Given the description of an element on the screen output the (x, y) to click on. 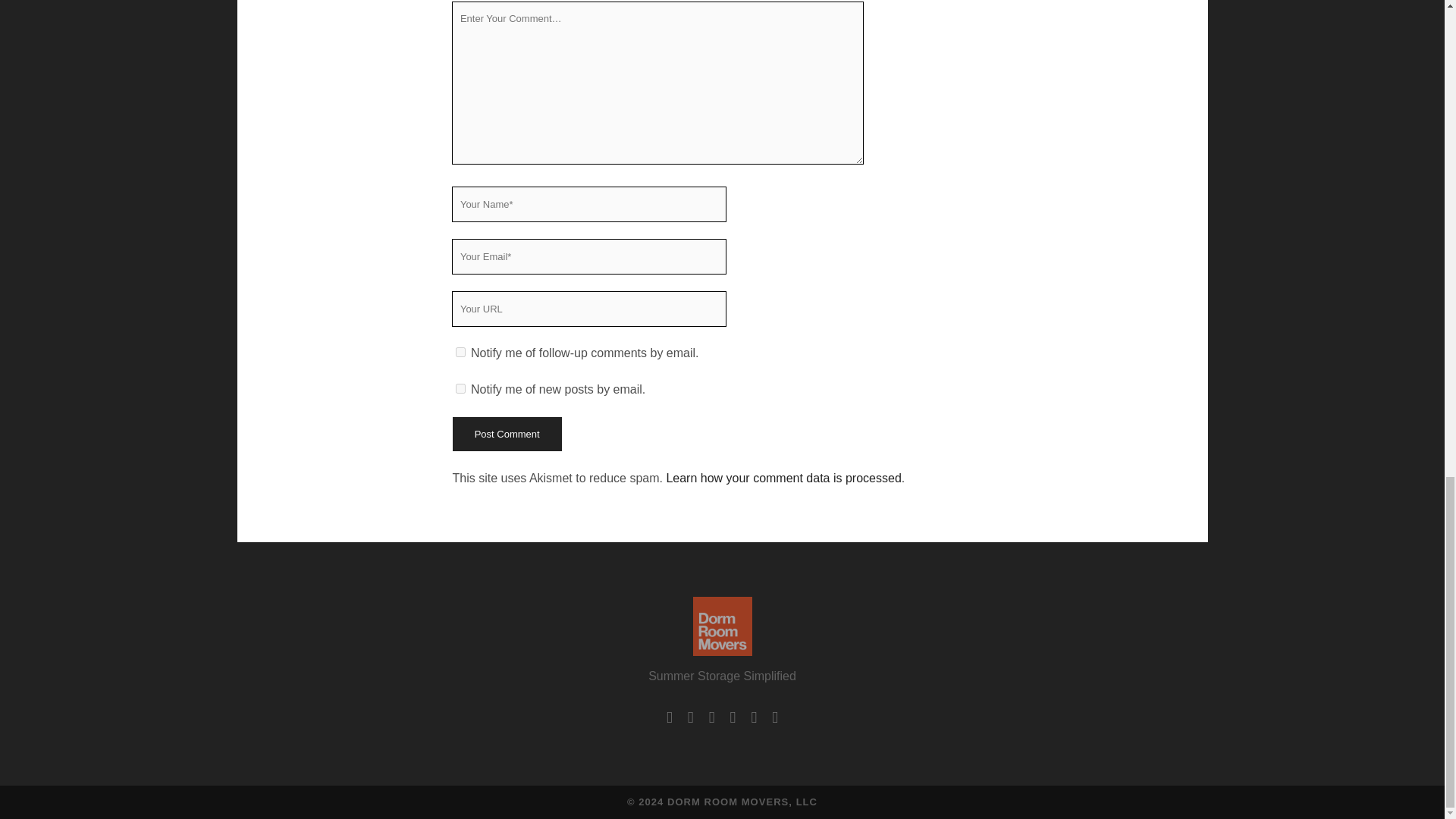
subscribe (459, 352)
Learn how your comment data is processed (783, 477)
Post Comment (505, 433)
Post Comment (505, 433)
subscribe (459, 388)
